Given the description of an element on the screen output the (x, y) to click on. 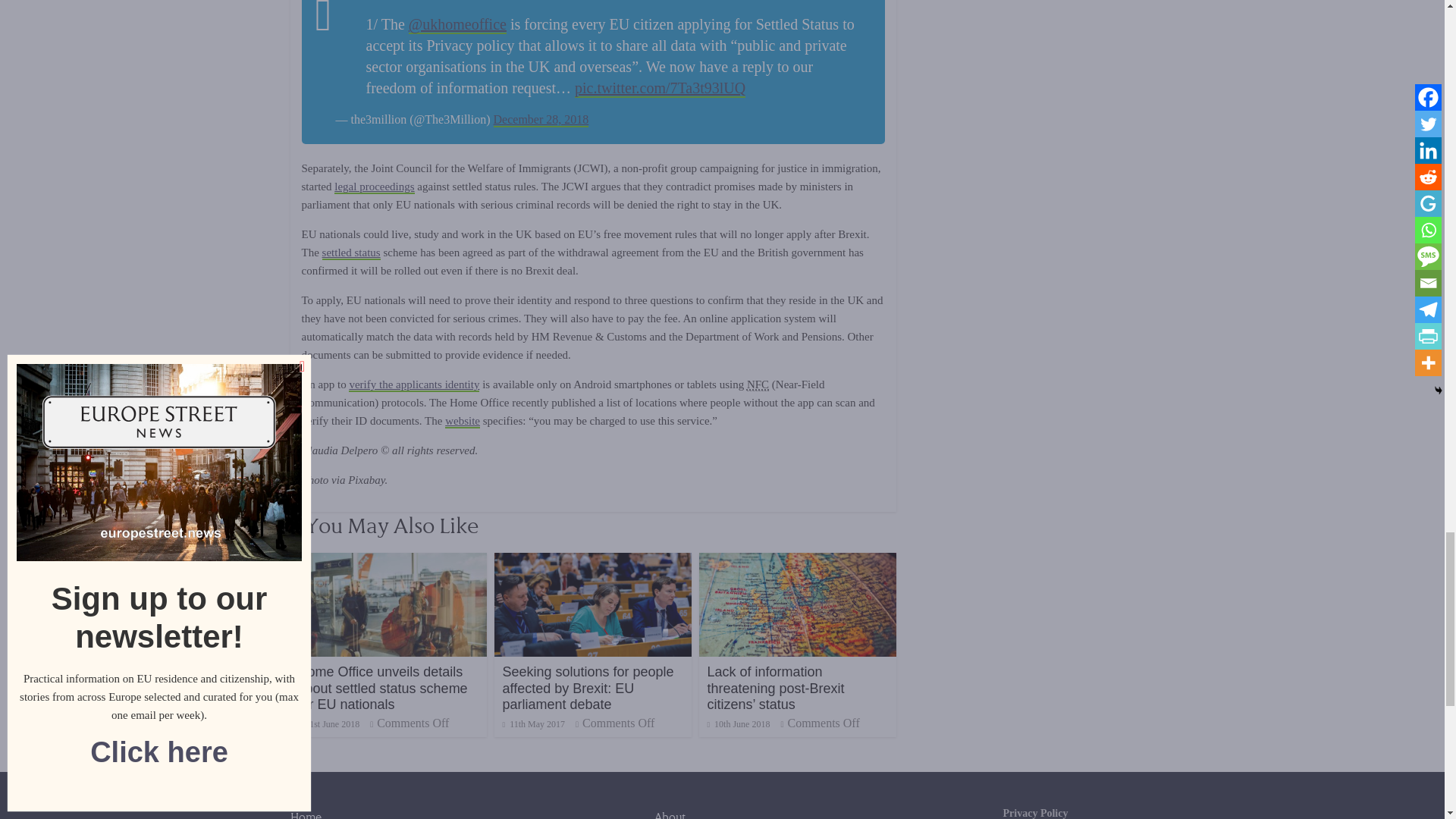
Near-Field Communication (757, 384)
